Given the description of an element on the screen output the (x, y) to click on. 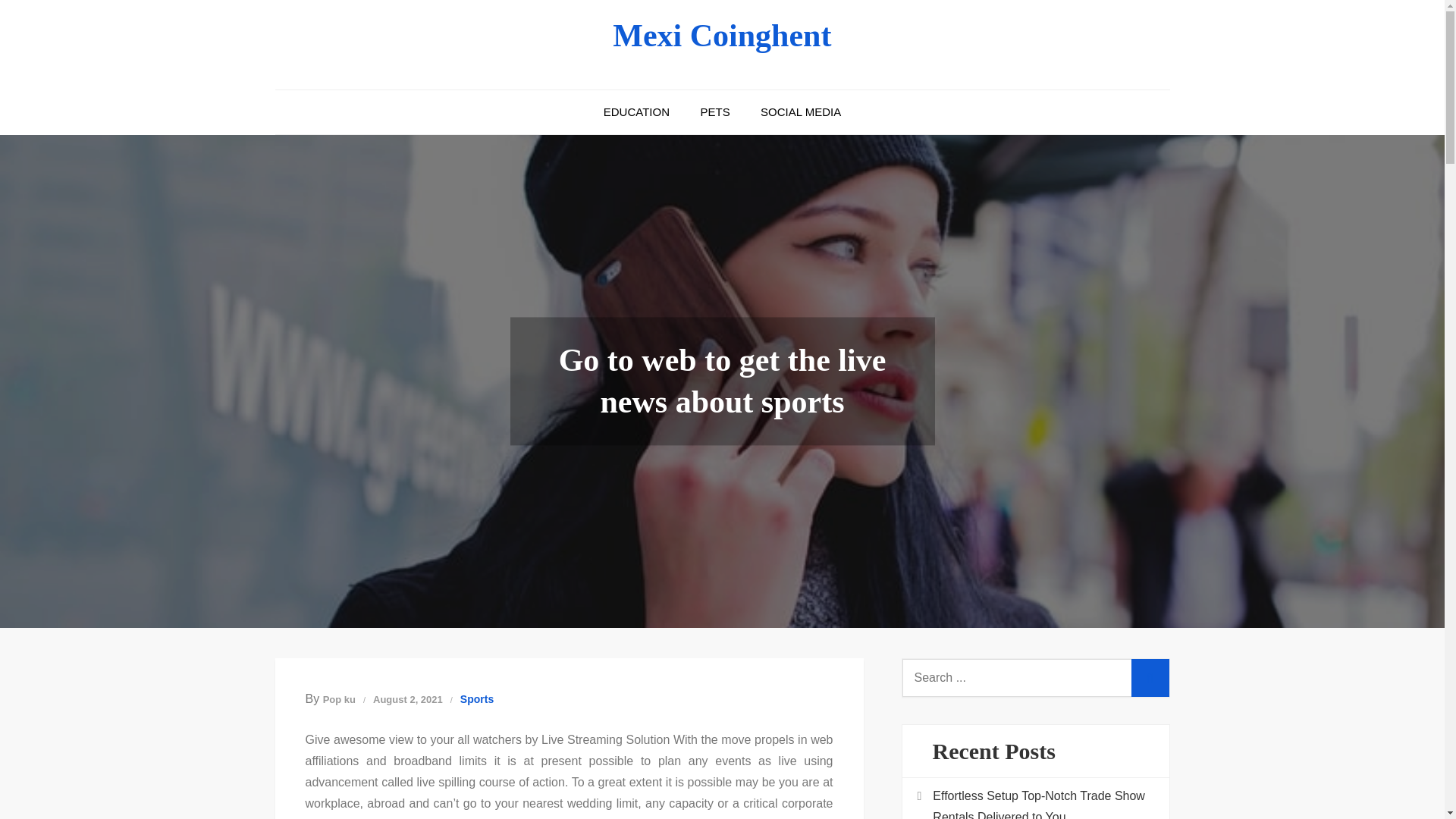
Search for: (1035, 677)
Search (1150, 677)
PETS (713, 112)
August 2, 2021 (407, 699)
EDUCATION (635, 112)
SOCIAL MEDIA (800, 112)
Pop ku (339, 699)
Sports (476, 699)
Mexi Coinghent (721, 35)
